Given the description of an element on the screen output the (x, y) to click on. 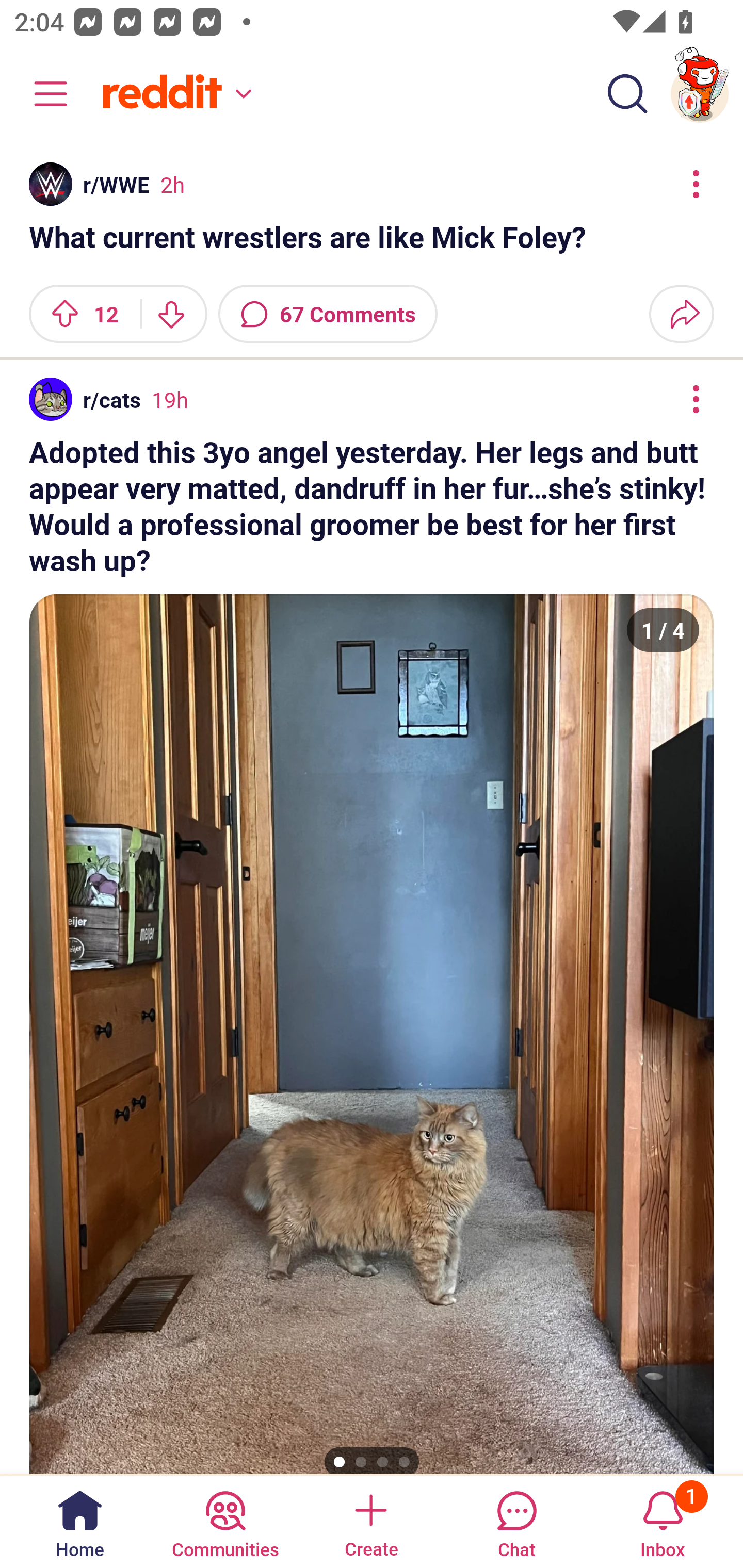
Search (626, 93)
TestAppium002 account (699, 93)
Community menu (41, 94)
Home feed (173, 94)
Home (80, 1520)
Communities (225, 1520)
Create a post Create (370, 1520)
Chat (516, 1520)
Inbox, has 1 notification 1 Inbox (662, 1520)
